Given the description of an element on the screen output the (x, y) to click on. 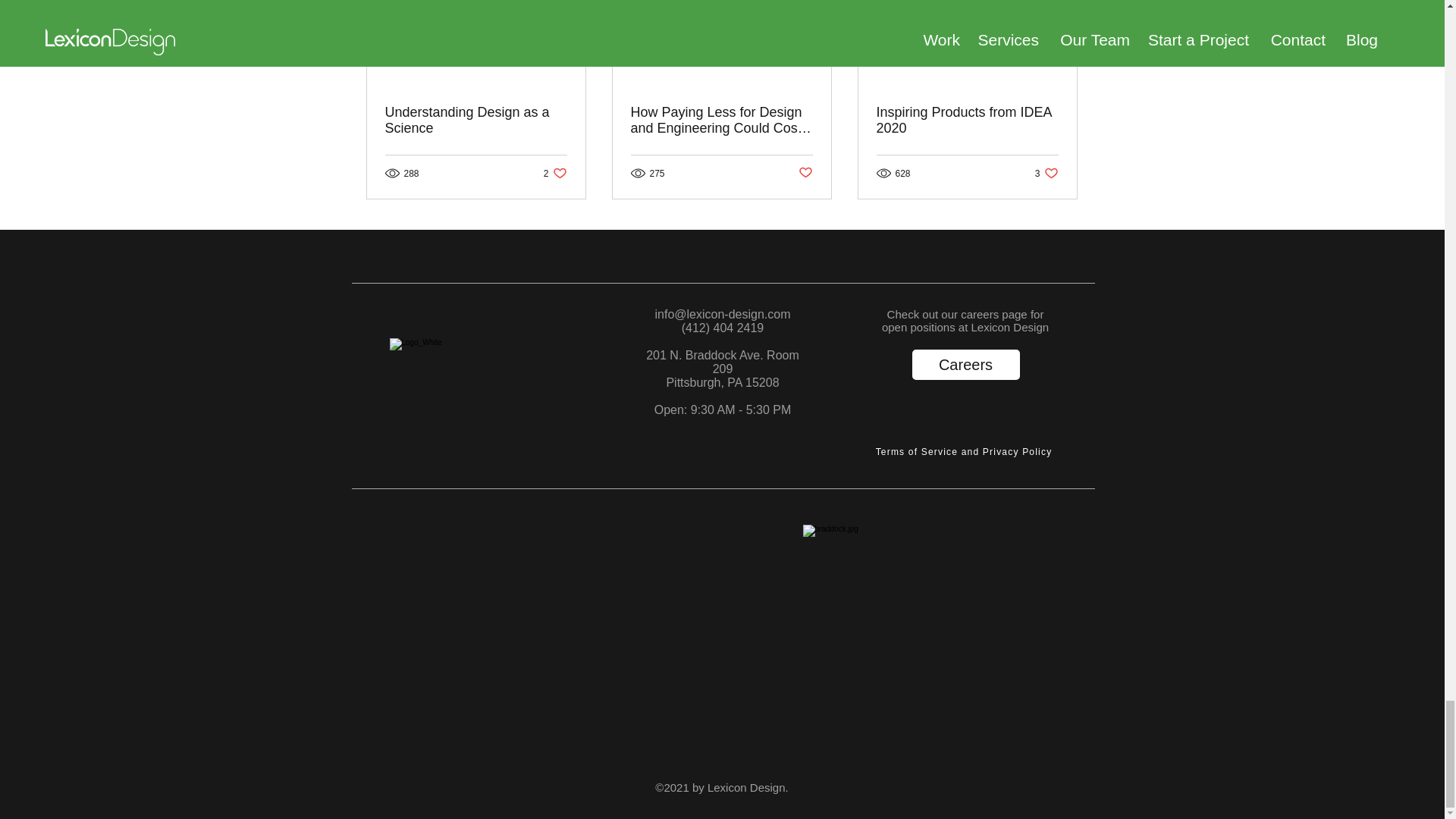
Careers (555, 173)
Terms of Service and Privacy Policy (965, 364)
Understanding Design as a Science (966, 452)
Inspiring Products from IDEA 2020 (476, 120)
How Paying Less for Design and Engineering Could Cost You (967, 120)
Post not marked as liked (1046, 173)
